Given the description of an element on the screen output the (x, y) to click on. 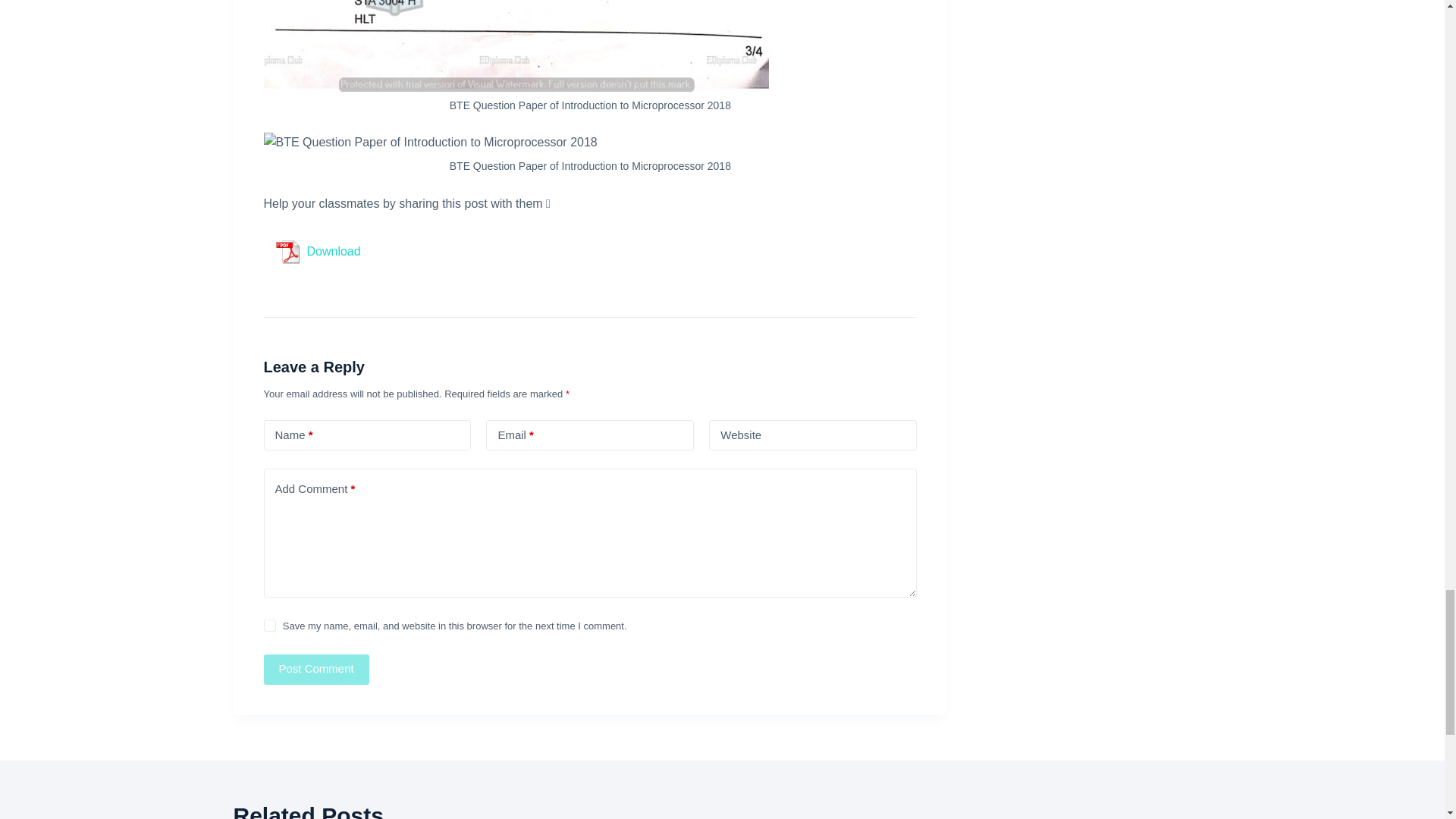
yes (269, 625)
View PDF (286, 251)
